Given the description of an element on the screen output the (x, y) to click on. 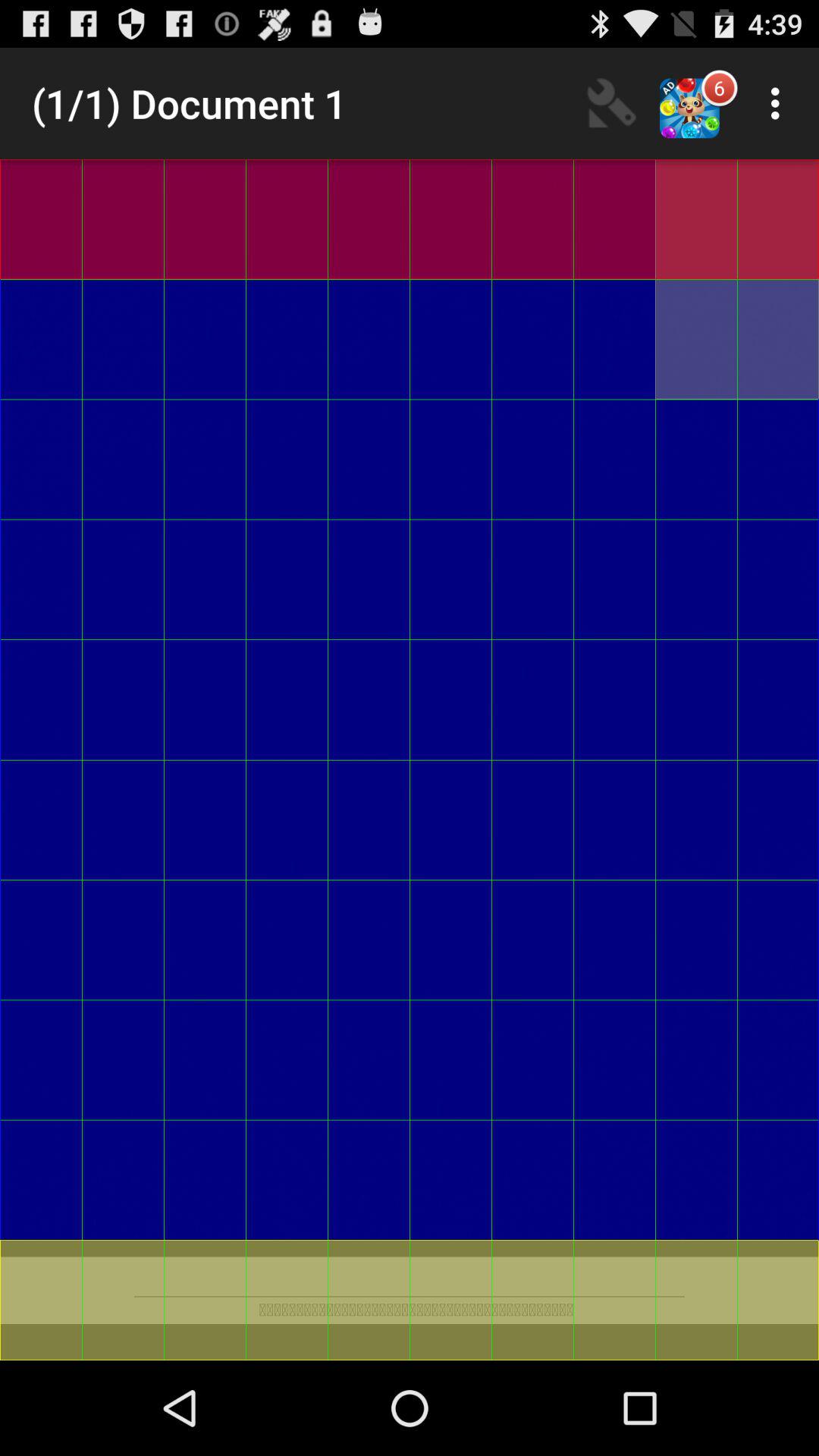
turn off the icon next to 1 1 document app (611, 103)
